Given the description of an element on the screen output the (x, y) to click on. 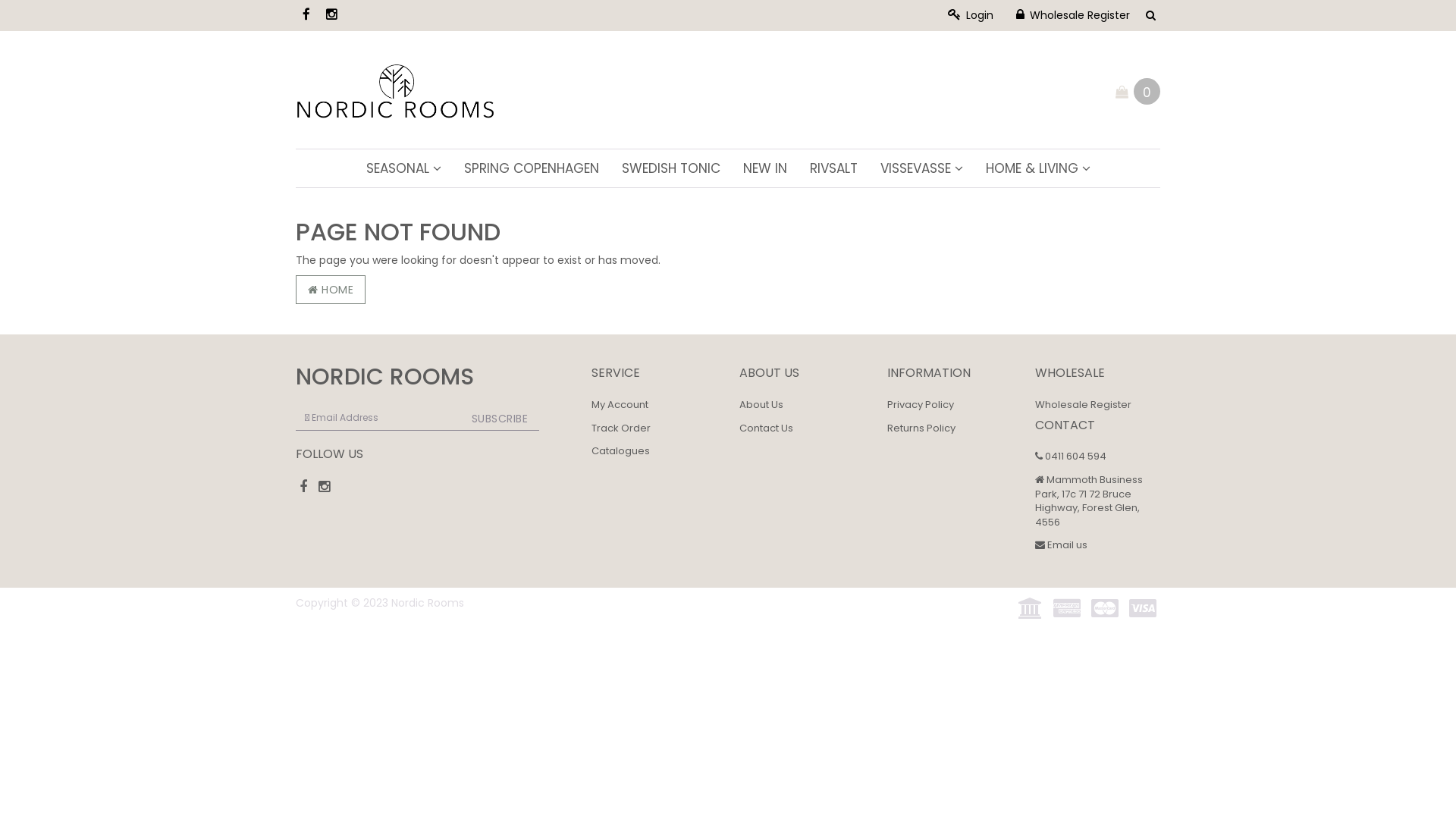
Bank Deposit Element type: hover (1030, 608)
VISSEVASSE Element type: text (921, 168)
Wholesale Register Element type: text (1083, 404)
0411 604 594 Element type: text (1070, 455)
MasterCard Element type: hover (1104, 608)
SPRING COPENHAGEN Element type: text (530, 168)
My Account Element type: text (619, 404)
American Express Element type: hover (1066, 608)
Nordic Rooms  Element type: hover (395, 88)
HOME Element type: text (330, 289)
Login Element type: text (970, 15)
SEASONAL Element type: text (403, 168)
About Us Element type: text (761, 404)
SWEDISH TONIC Element type: text (670, 168)
Returns Policy Element type: text (921, 427)
Privacy Policy Element type: text (920, 404)
HOME & LIVING Element type: text (1037, 168)
NEW IN Element type: text (764, 168)
RIVSALT Element type: text (832, 168)
Email us Element type: text (1061, 544)
0 Element type: text (1146, 91)
Contact Us Element type: text (766, 427)
Visa Element type: hover (1142, 608)
Catalogues Element type: text (620, 450)
Wholesale Register Element type: text (1072, 15)
Subscribe Element type: text (499, 417)
Track Order Element type: text (620, 427)
